Given the description of an element on the screen output the (x, y) to click on. 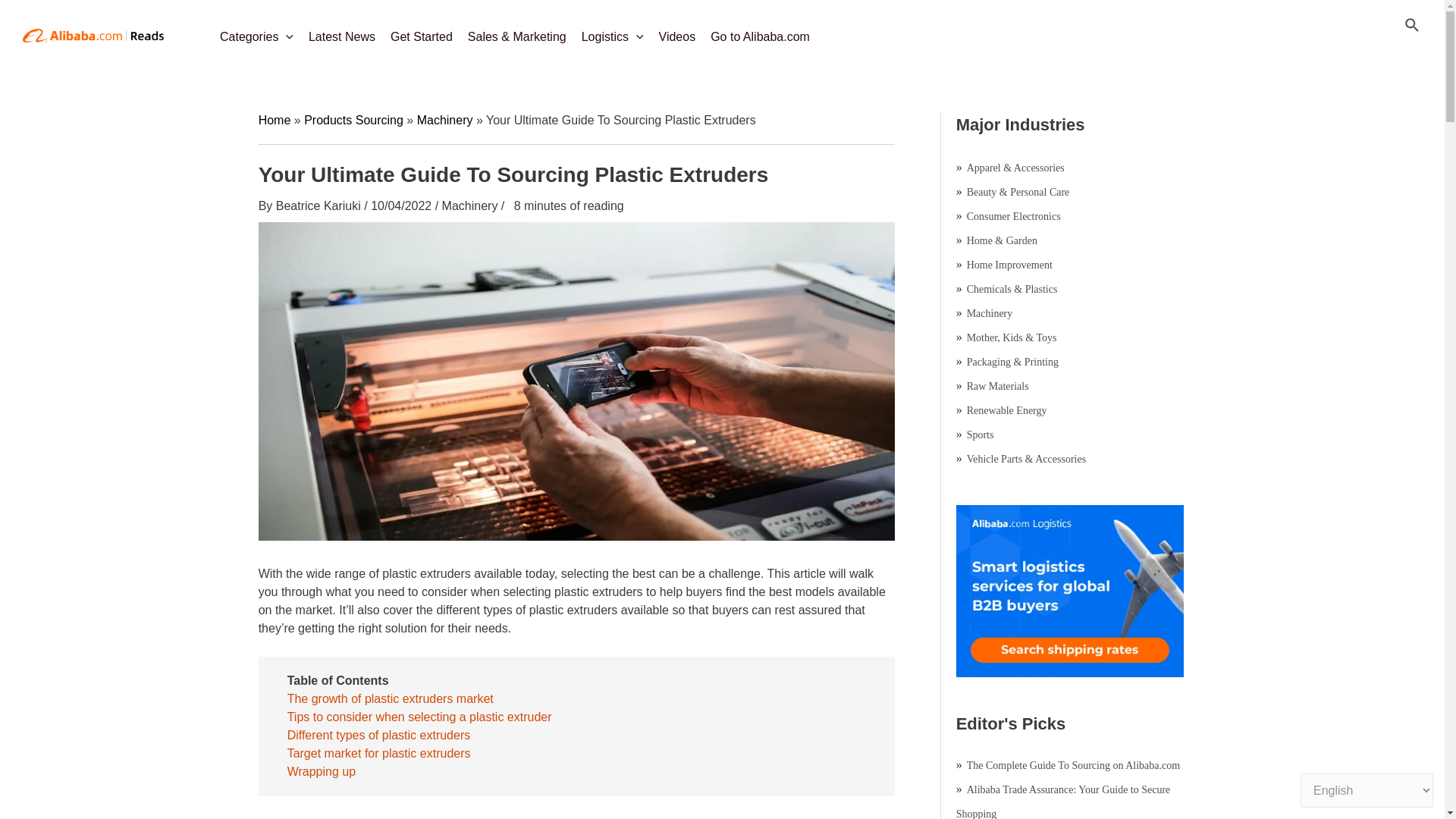
Categories (256, 31)
View all posts by Beatrice Kariuki (320, 205)
Logistics (611, 31)
Latest News (341, 31)
Get Started (421, 31)
Go to Alibaba.com (759, 31)
